Given the description of an element on the screen output the (x, y) to click on. 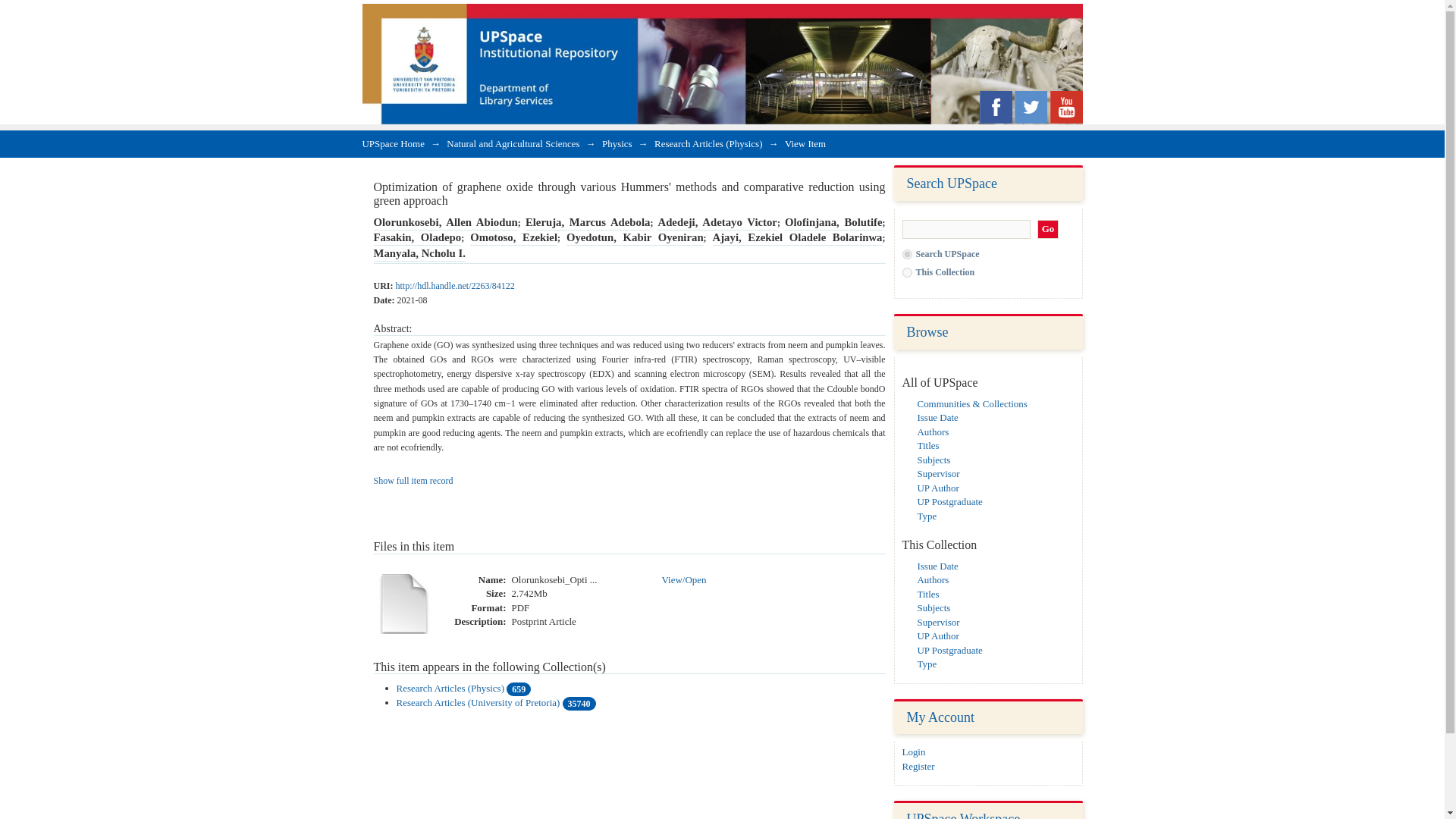
Issue Date (937, 565)
Subjects (933, 459)
UP Author (938, 635)
Type (927, 514)
Register (918, 766)
UP Author (938, 487)
UP Postgraduate (949, 650)
UPSpace Home (393, 143)
Supervisor (938, 473)
UPSpace Workspace (963, 815)
